Given the description of an element on the screen output the (x, y) to click on. 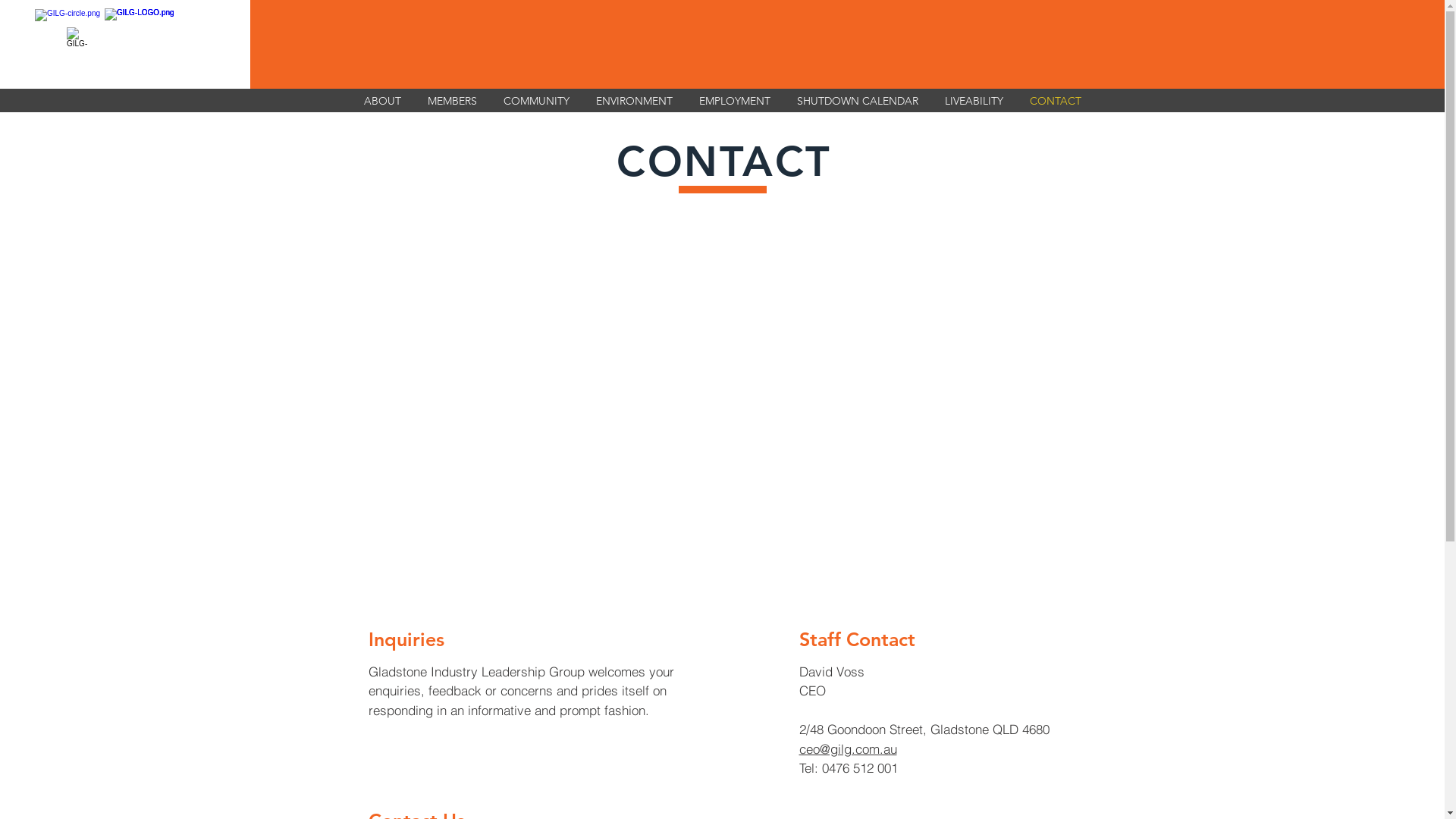
EMPLOYMENT Element type: text (734, 100)
Google Maps Element type: hover (723, 413)
CONTACT Element type: text (1054, 100)
SHUTDOWN CALENDAR Element type: text (857, 100)
ABOUT Element type: text (382, 100)
ENVIRONMENT Element type: text (633, 100)
COMMUNITY Element type: text (535, 100)
MEMBERS Element type: text (451, 100)
ceo@gilg.com.au Element type: text (848, 748)
LIVEABILITY Element type: text (973, 100)
